Given the description of an element on the screen output the (x, y) to click on. 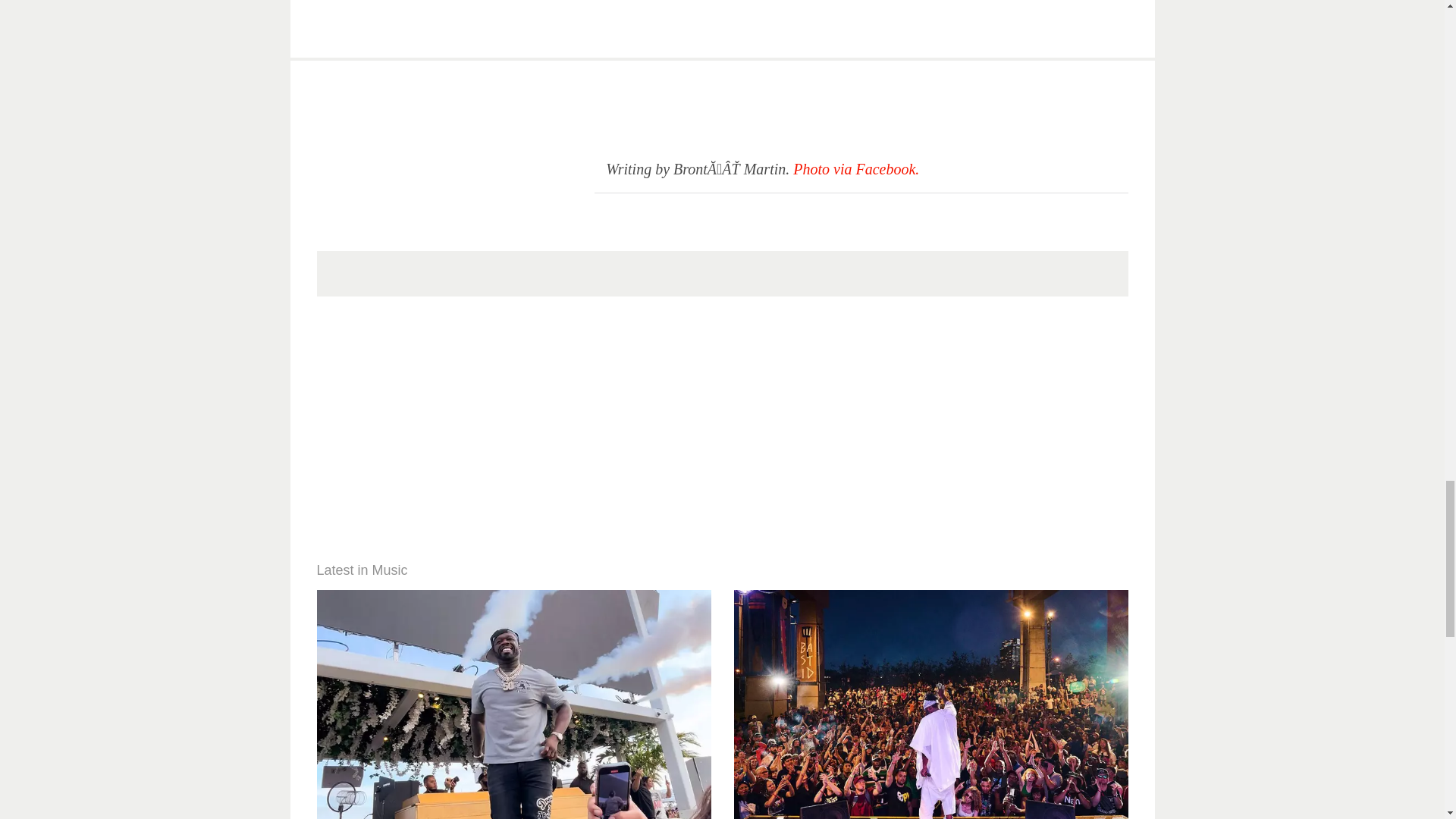
Photo via Facebook. (855, 168)
